Given the description of an element on the screen output the (x, y) to click on. 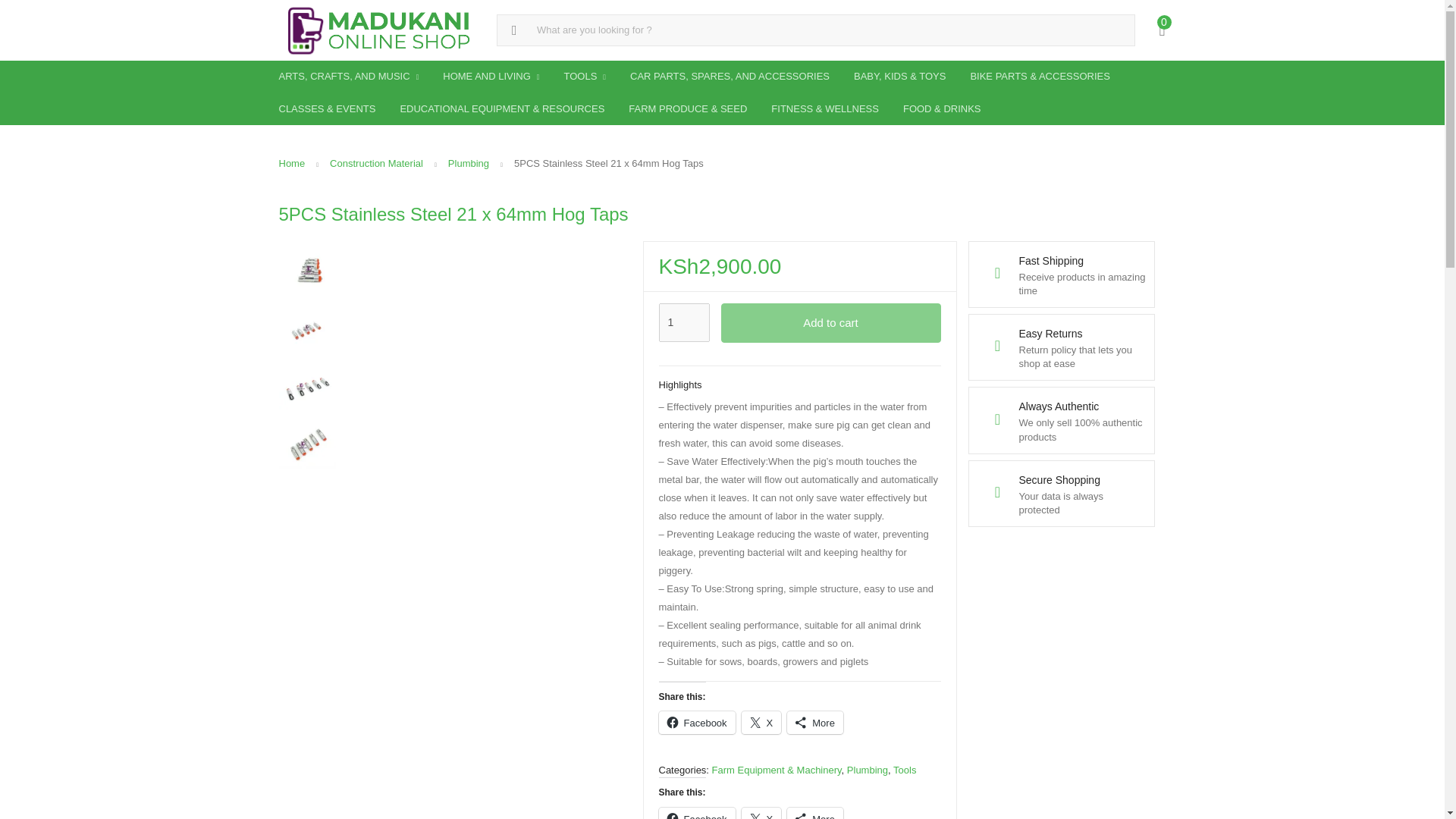
ARTS, CRAFTS, AND MUSIC (348, 76)
Search (17, 12)
1 (683, 323)
Click to share on Facebook (696, 813)
TOOLS (584, 76)
HOME AND LIVING (490, 76)
Click to share on Facebook (696, 722)
Click to share on X (761, 813)
Click to share on X (761, 722)
5PCS Stainless Steel 21 x 64mm Hog Taps (307, 326)
CAR PARTS, SPARES, AND ACCESSORIES (729, 76)
